Given the description of an element on the screen output the (x, y) to click on. 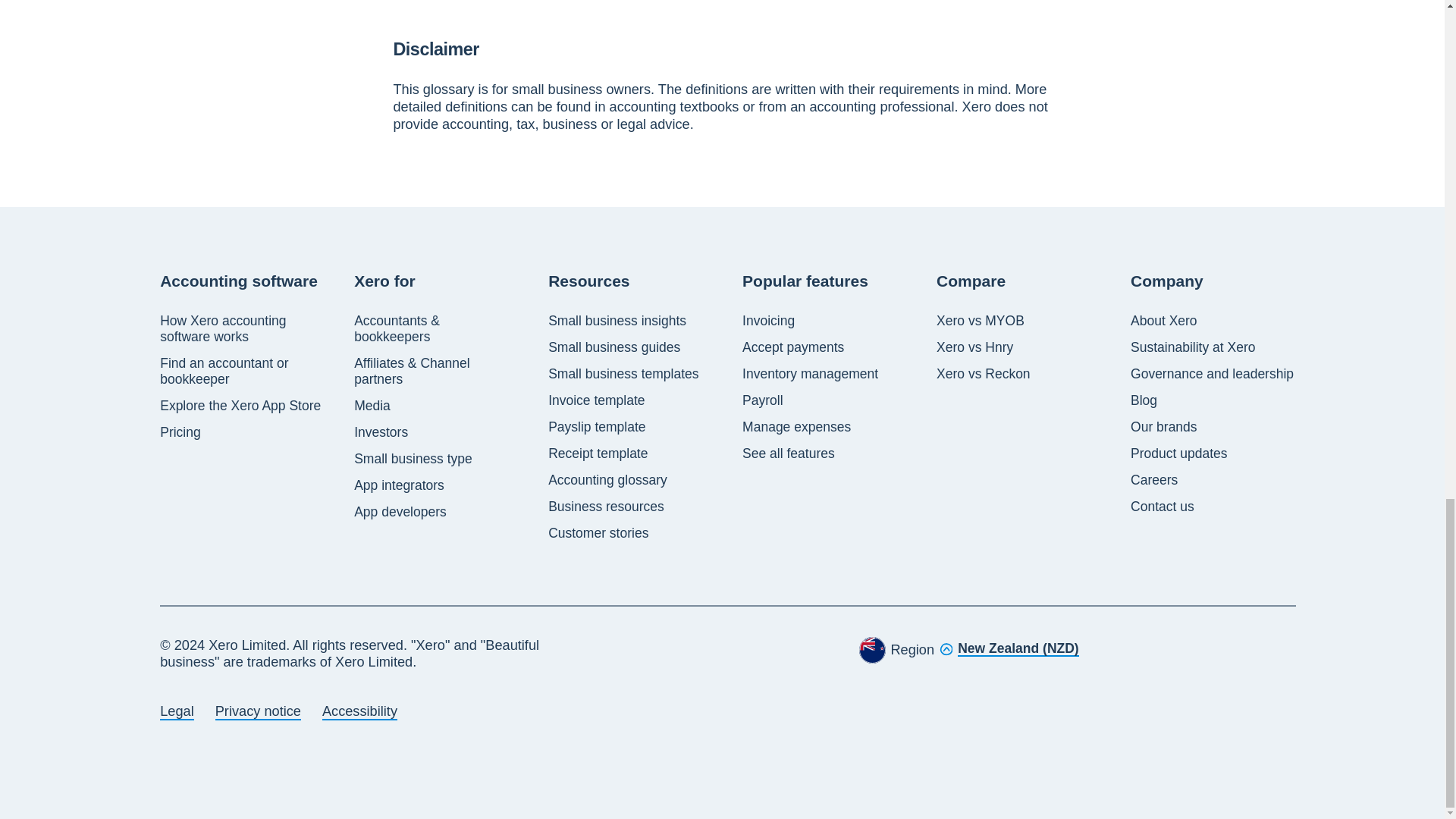
Investors (380, 432)
Pricing (180, 432)
Small business guides (613, 347)
Receipt template (597, 453)
App integrators (398, 485)
How Xero accounting software works (242, 328)
Media (371, 406)
Small business insights (616, 320)
Small business type (412, 458)
Explore the Xero App Store (240, 406)
Payslip template (596, 426)
Find an accountant or bookkeeper (242, 371)
Invoice template (596, 400)
Small business templates (623, 374)
App developers (399, 512)
